Given the description of an element on the screen output the (x, y) to click on. 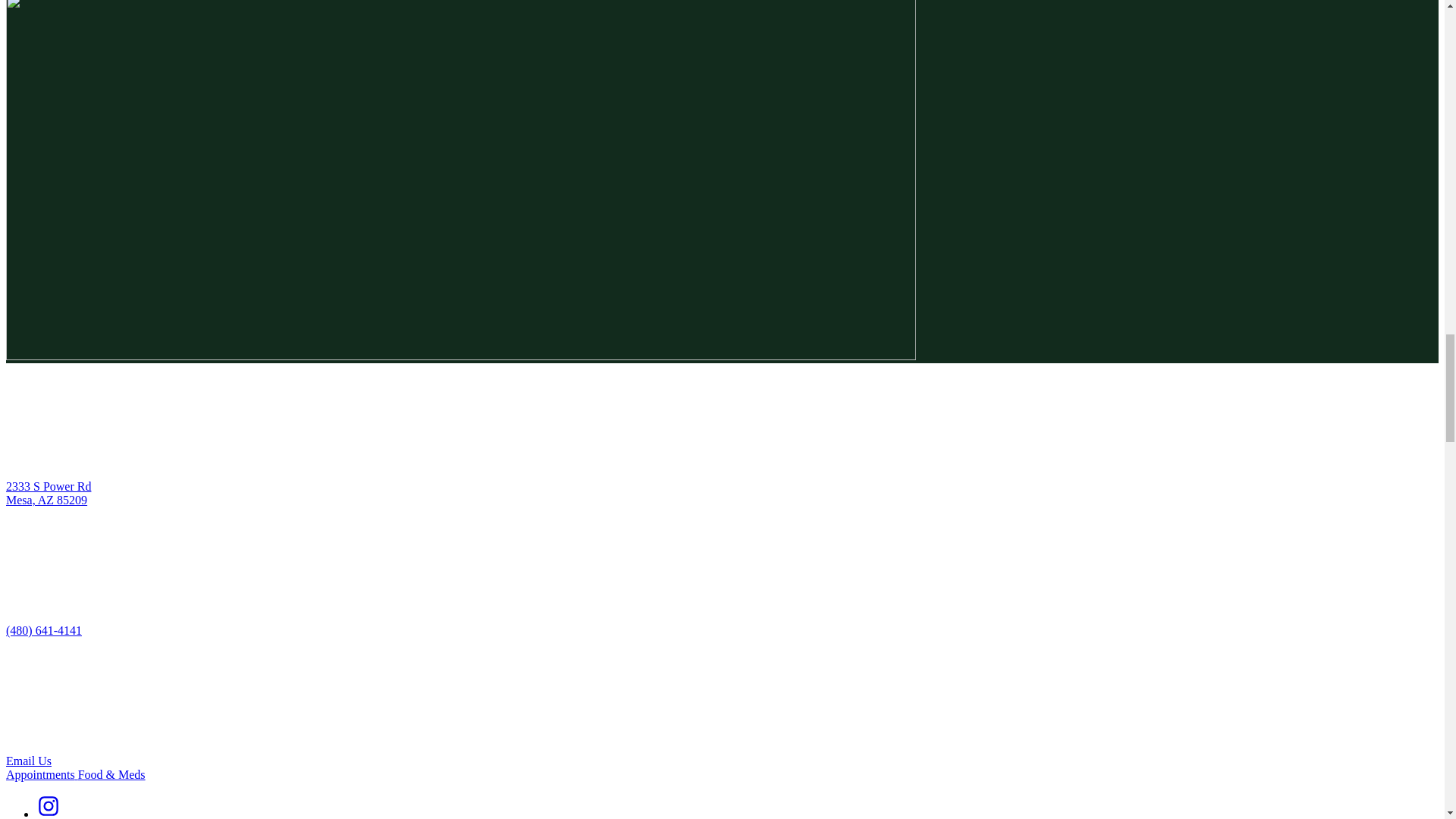
Appointments (41, 774)
Email Us (27, 760)
Call Us (43, 630)
Instagram (48, 813)
Open this Address on Google Maps (47, 492)
